Given the description of an element on the screen output the (x, y) to click on. 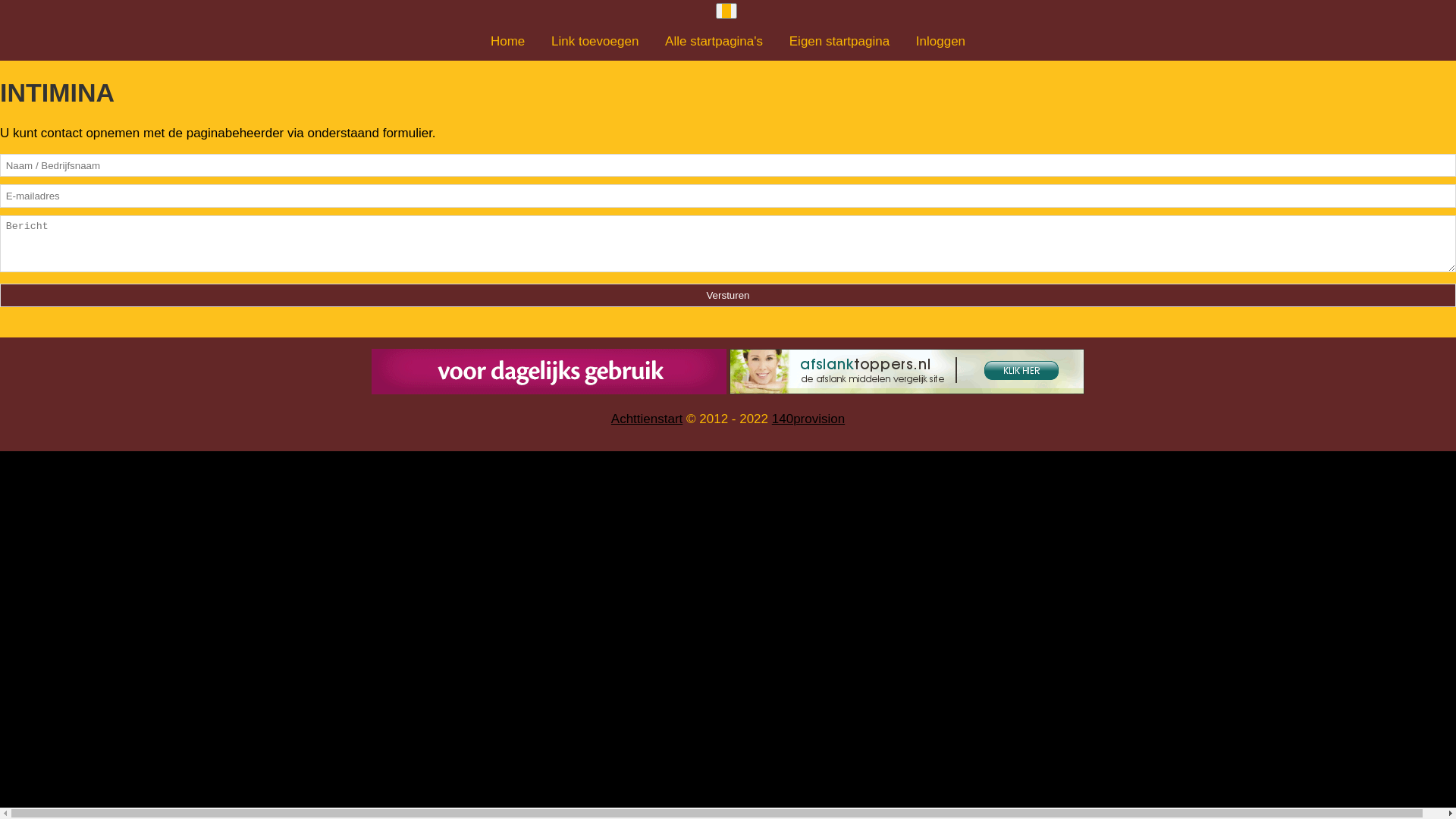
De beste afslankmiddelen op een site Element type: hover (906, 371)
Inloggen Element type: text (940, 40)
Achttienstart Element type: text (647, 418)
Stevige grote borsten in 20 dagen Element type: hover (548, 371)
Link toevoegen Element type: text (594, 40)
Eigen startpagina Element type: text (839, 40)
Home Element type: text (507, 40)
140provision Element type: text (807, 418)
Alle startpagina's Element type: text (713, 40)
